Given the description of an element on the screen output the (x, y) to click on. 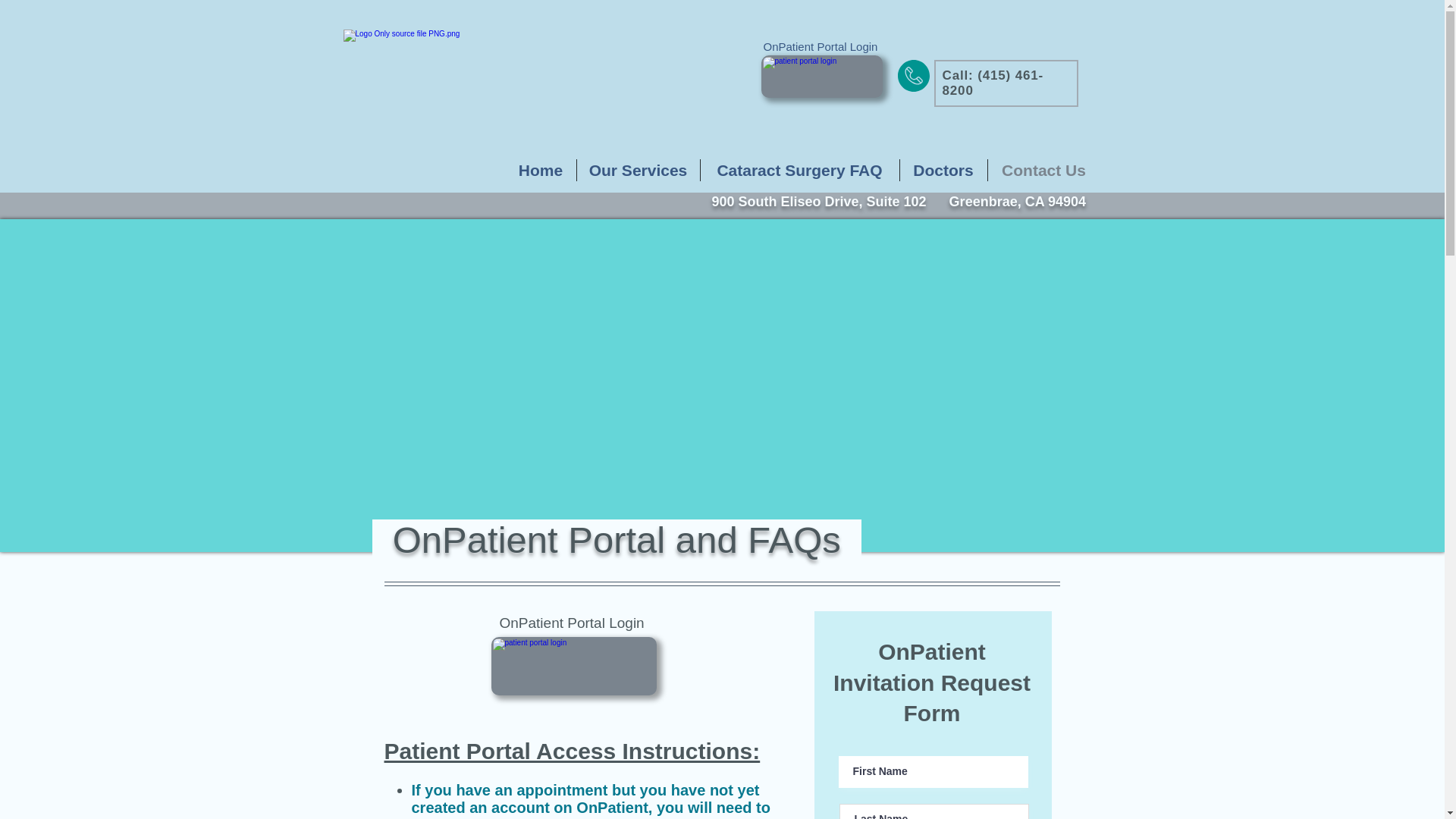
Home (540, 169)
Cataract Surgery FAQ (799, 169)
Doctors (943, 169)
Our Services (637, 169)
Contact Us (1043, 169)
